Given the description of an element on the screen output the (x, y) to click on. 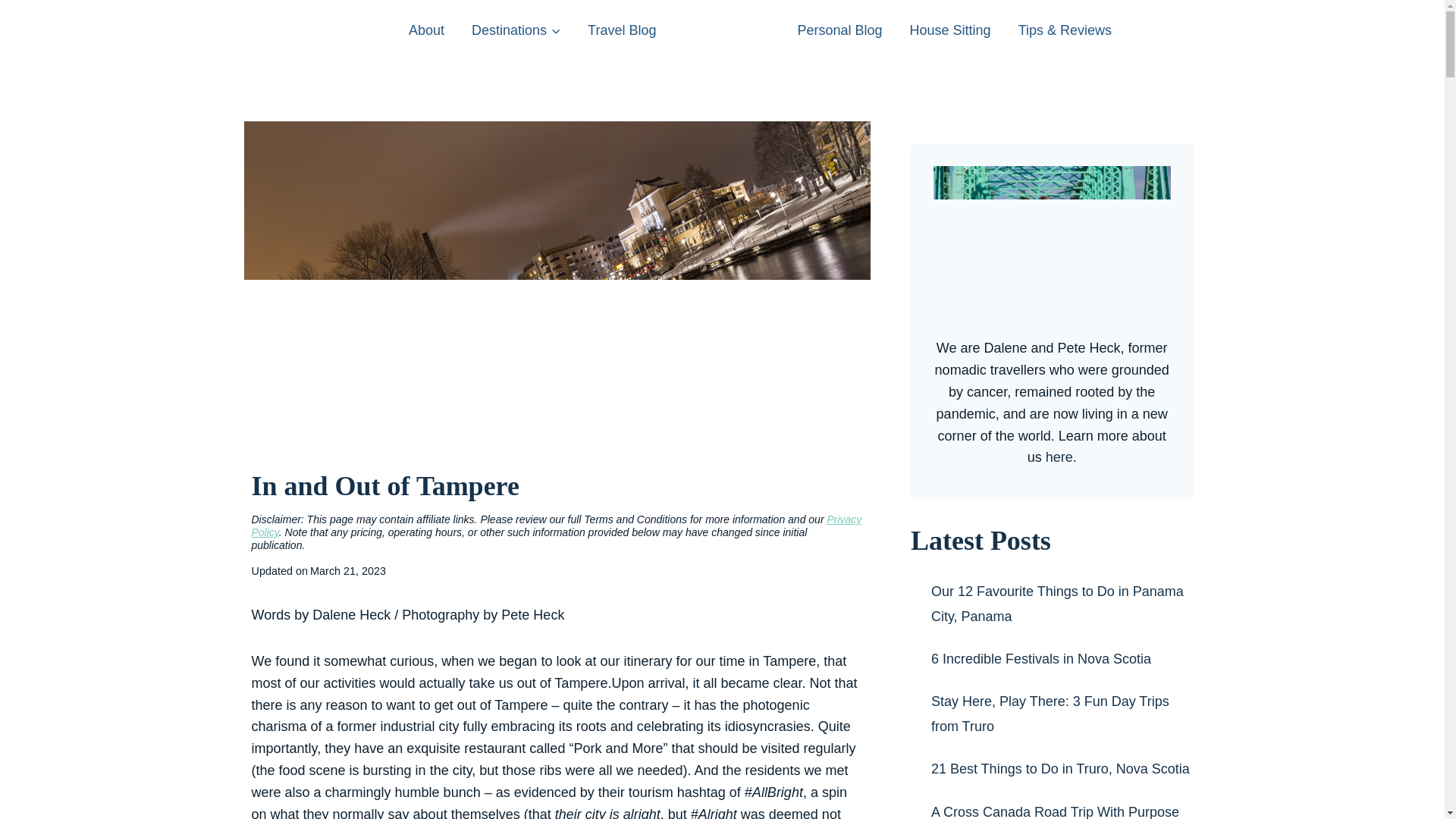
Personal Blog (839, 30)
House Sitting (950, 30)
About (426, 30)
Privacy Policy (556, 525)
Travel Blog (621, 30)
Home (726, 46)
Destinations (515, 30)
